Given the description of an element on the screen output the (x, y) to click on. 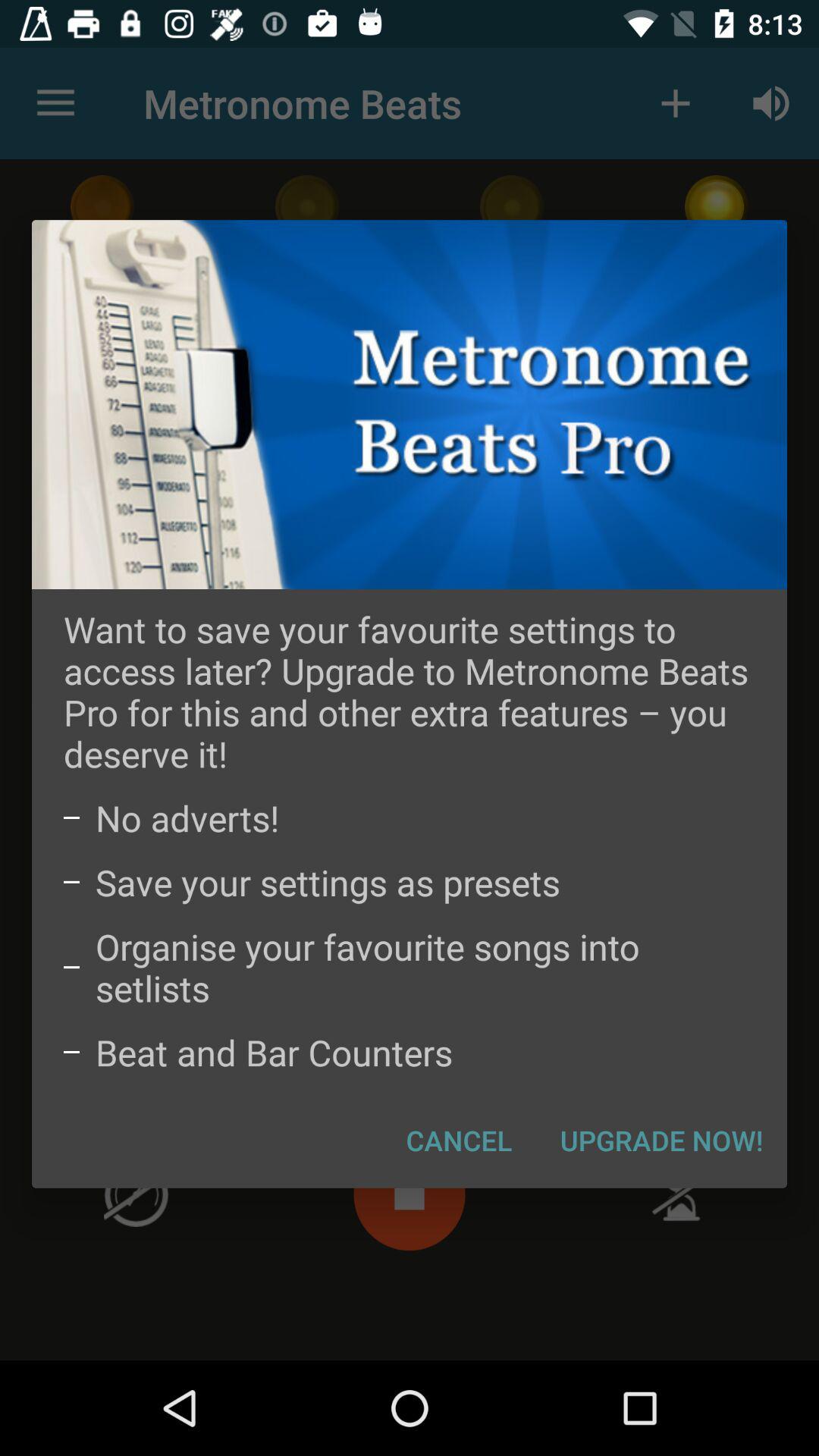
tap the item at the bottom (459, 1140)
